Given the description of an element on the screen output the (x, y) to click on. 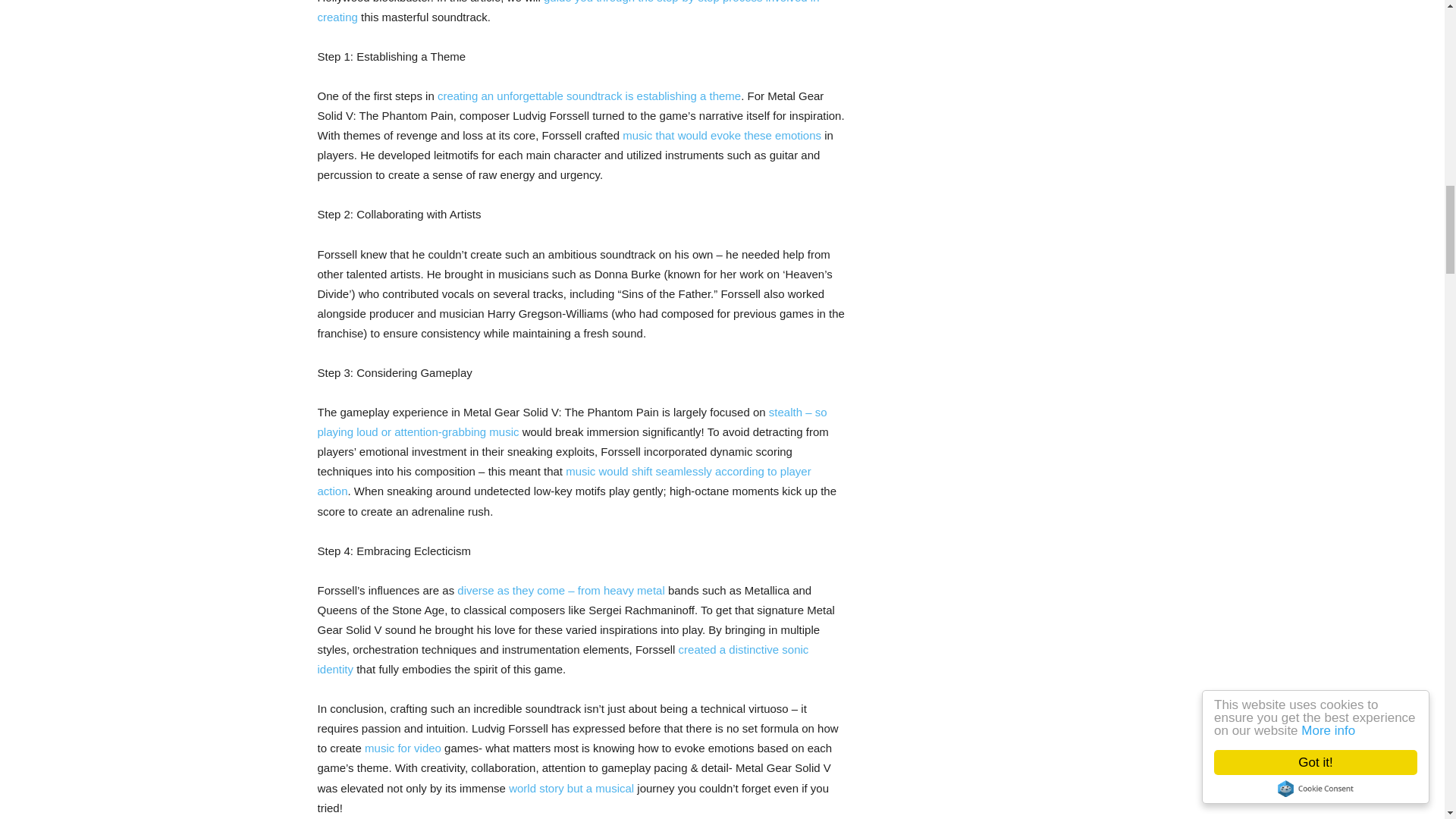
created a distinctive sonic identity (562, 658)
music would shift seamlessly according to player action (563, 481)
music that would evoke these emotions (722, 134)
creating an unforgettable soundtrack is establishing a theme (589, 95)
music for video (403, 748)
world story but a musical (570, 788)
